Given the description of an element on the screen output the (x, y) to click on. 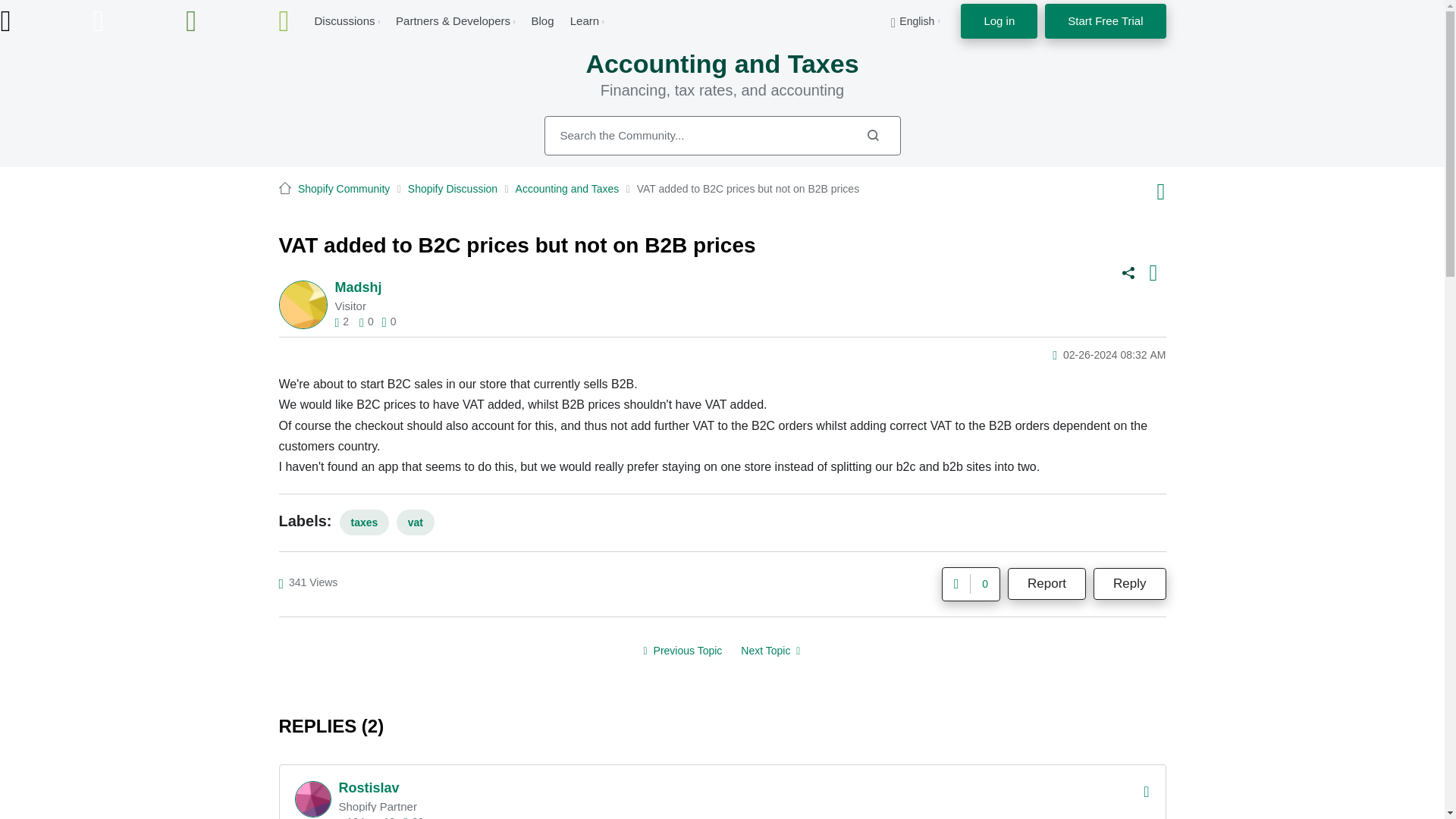
Search (872, 135)
Discussions (344, 20)
Search (722, 135)
Search (872, 135)
